Given the description of an element on the screen output the (x, y) to click on. 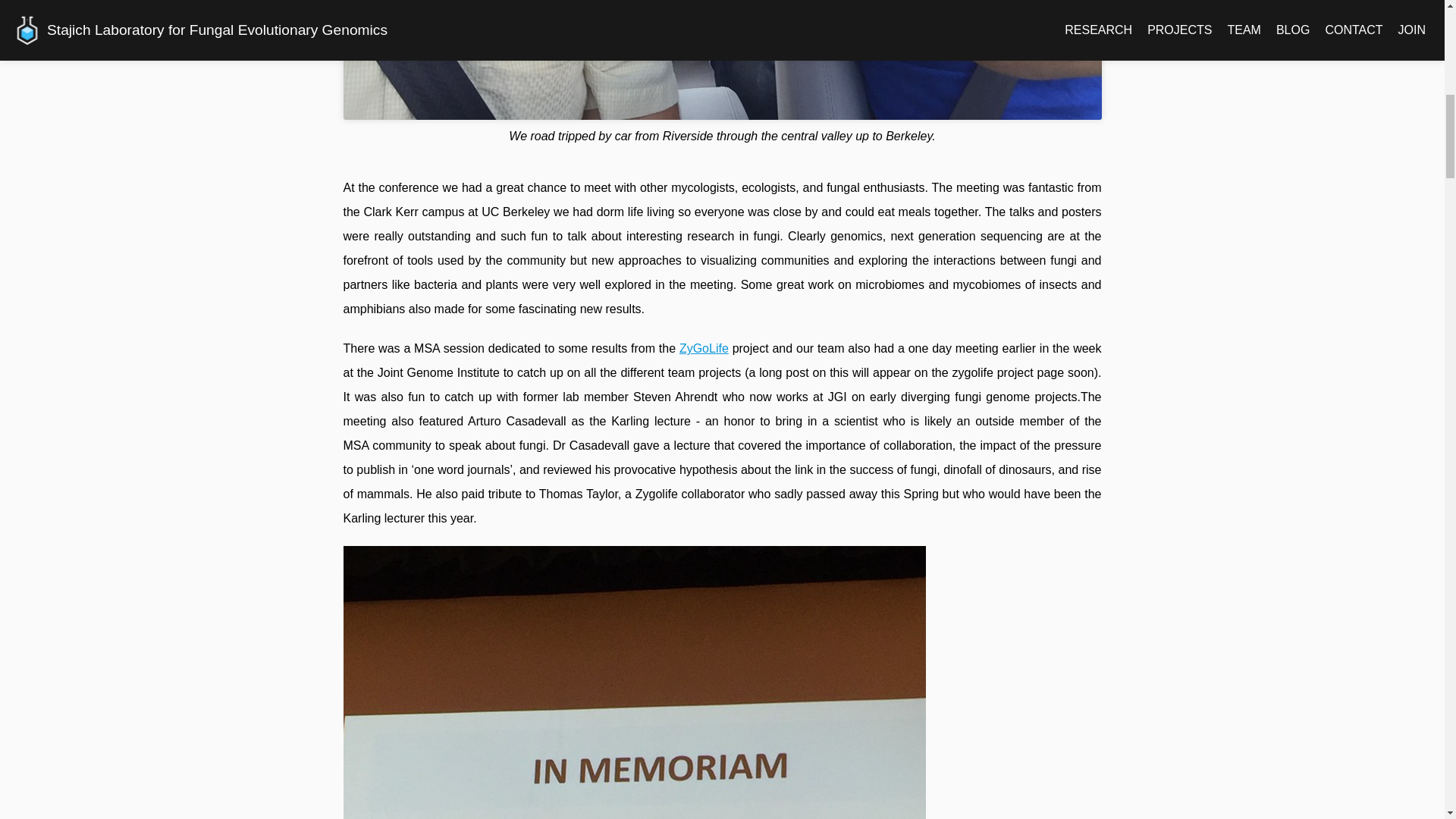
ZyGoLife (704, 348)
